Given the description of an element on the screen output the (x, y) to click on. 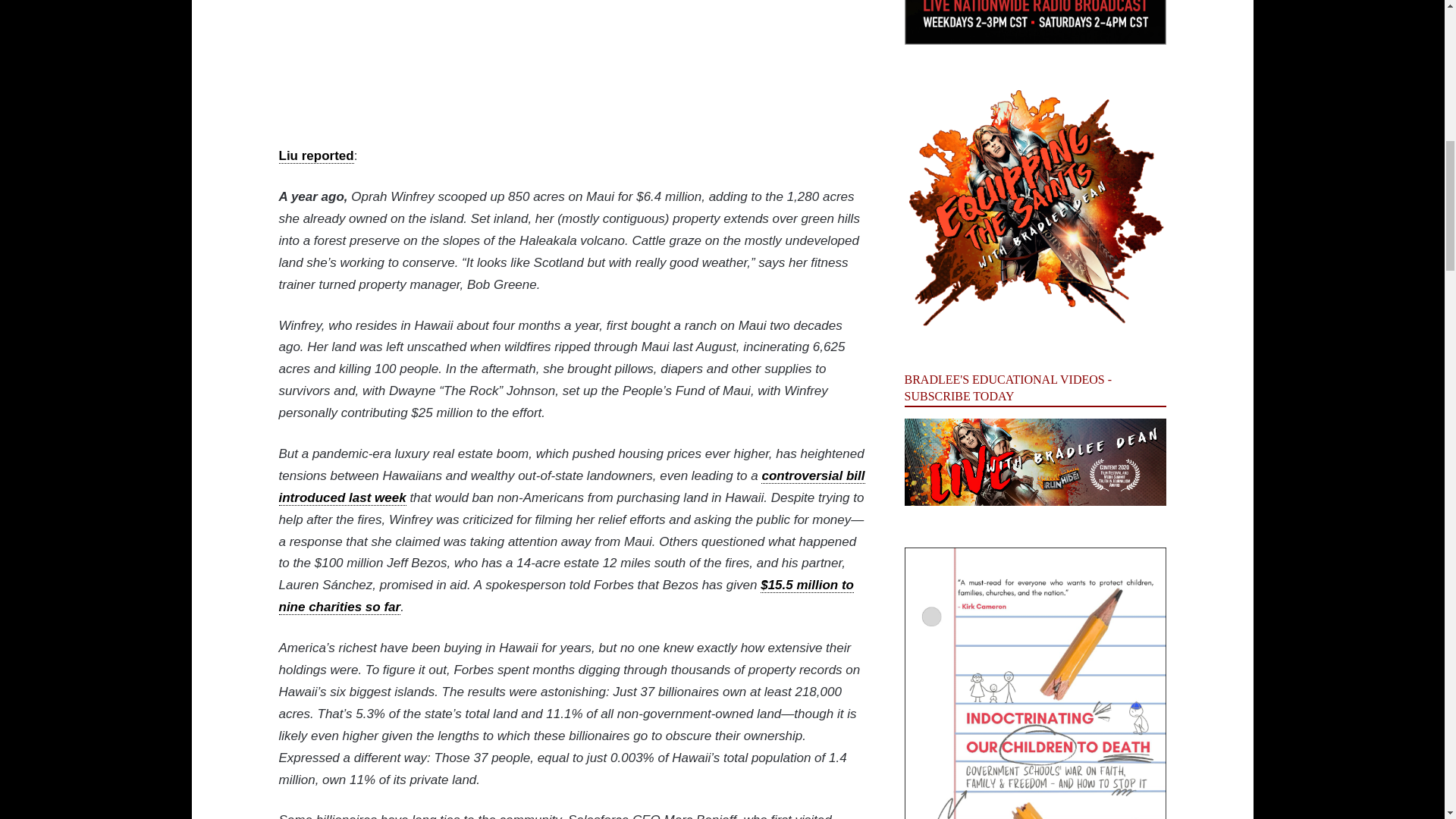
These Are The Billionaires Buying Hawaii (521, 59)
introduced last week (342, 498)
controversial bill (812, 476)
Liu reported (316, 155)
